Given the description of an element on the screen output the (x, y) to click on. 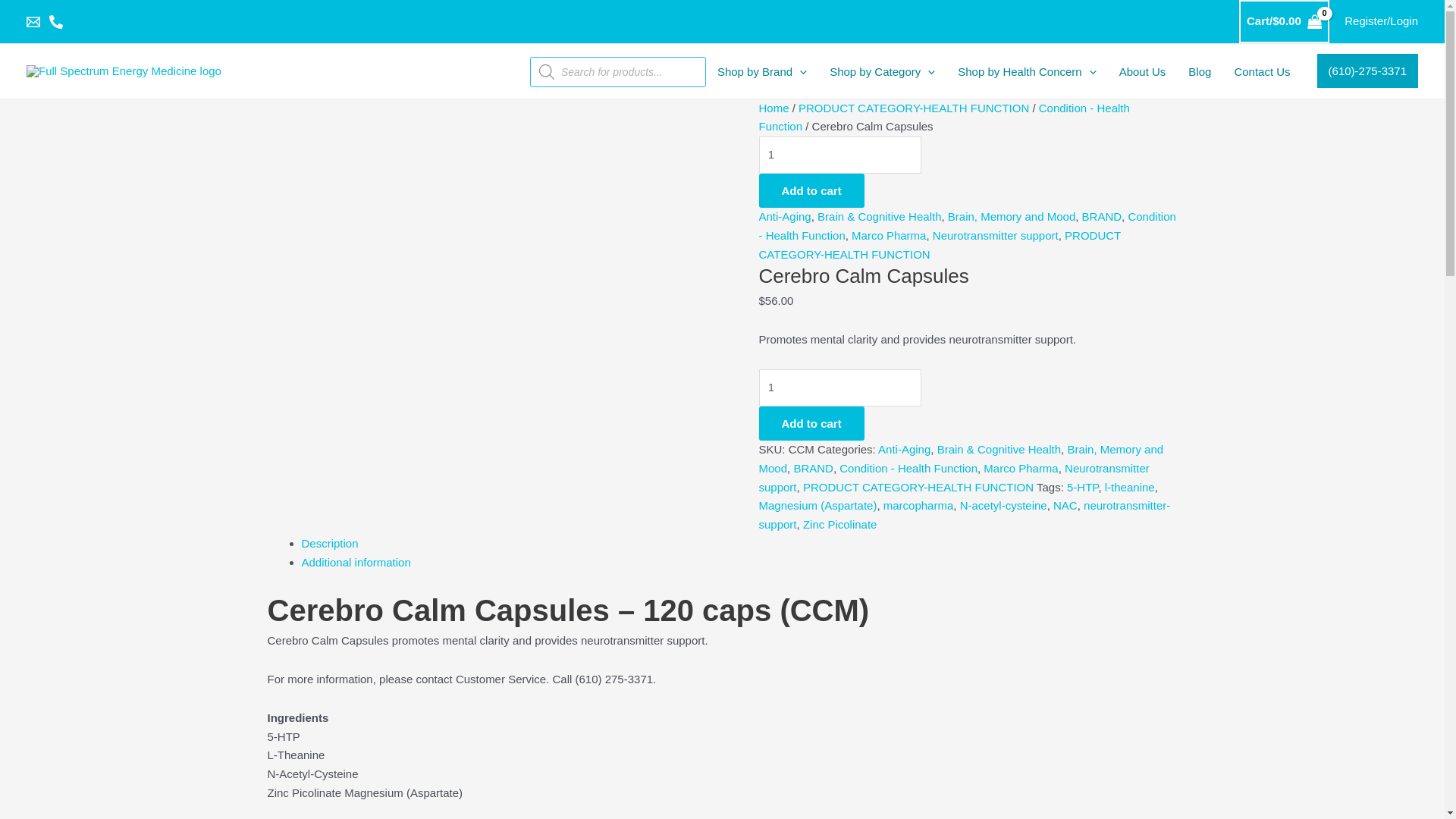
Shop by Brand (762, 71)
1 (839, 154)
1 (839, 387)
